Given the description of an element on the screen output the (x, y) to click on. 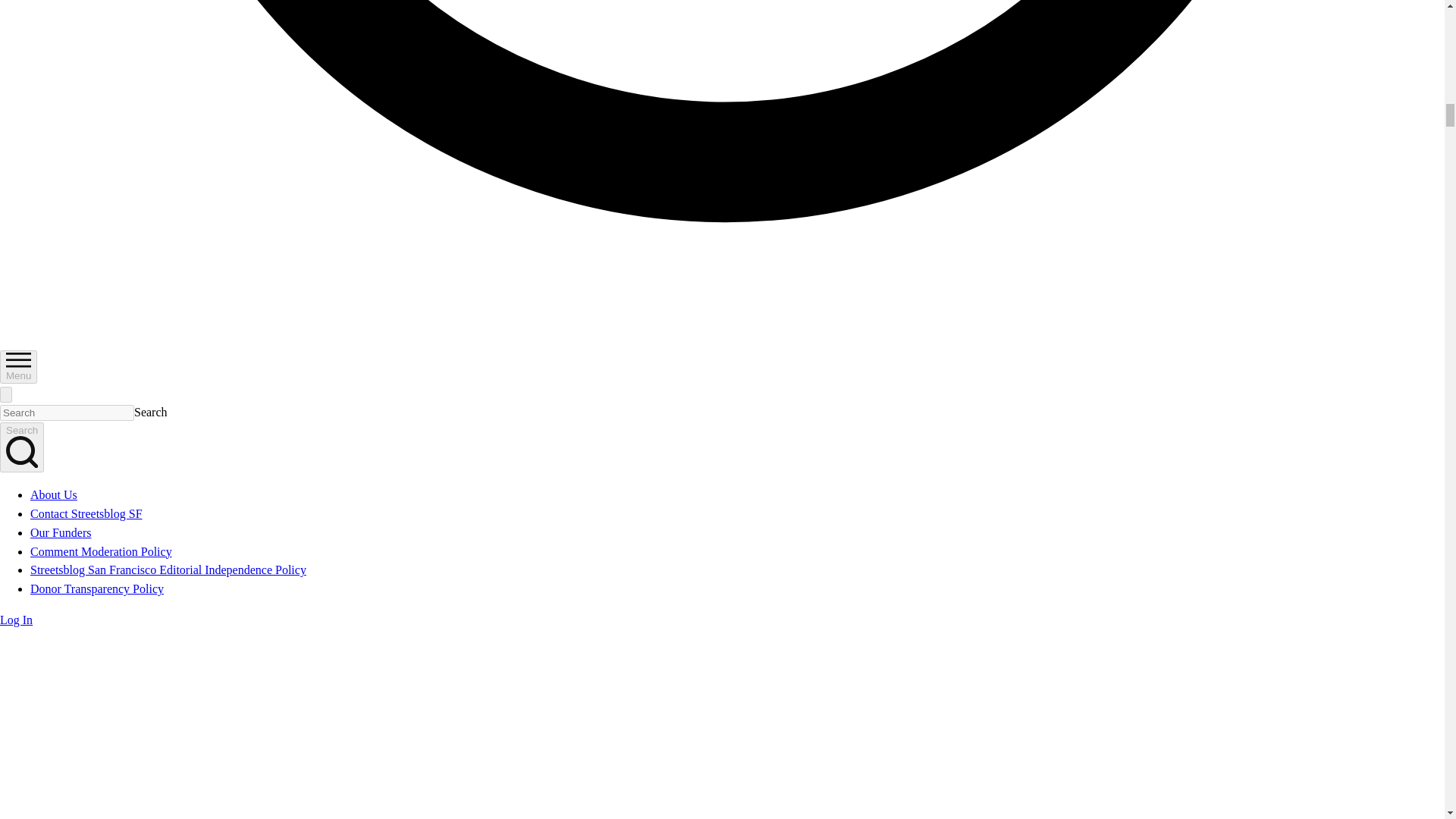
Menu (18, 366)
Contact Streetsblog SF (86, 513)
About Us (53, 494)
Comment Moderation Policy (100, 551)
Streetsblog San Francisco Editorial Independence Policy (167, 569)
Donor Transparency Policy (96, 588)
Our Funders (60, 532)
